Given the description of an element on the screen output the (x, y) to click on. 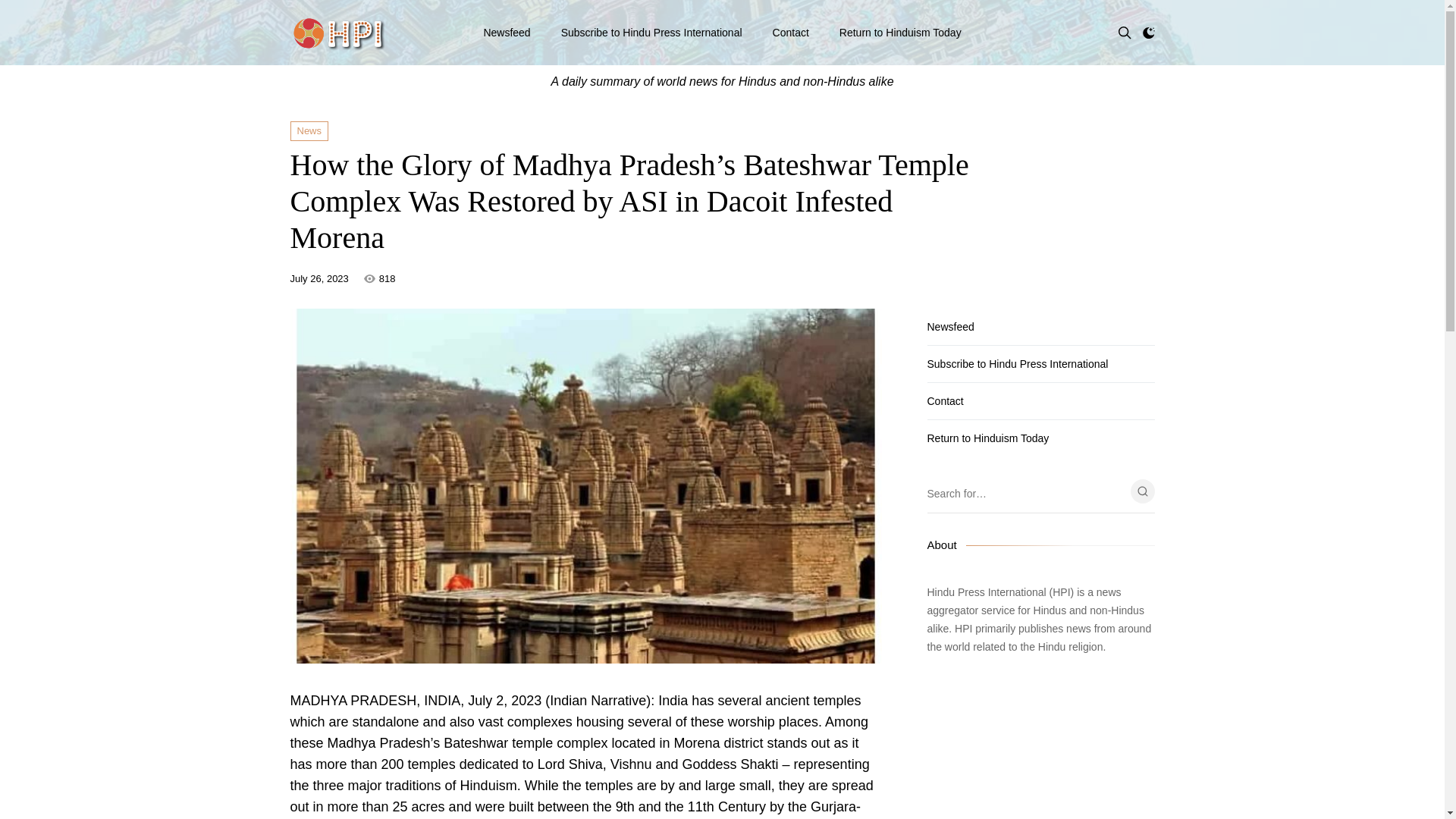
Contact (1040, 401)
Subscribe to Hindu Press International (1040, 363)
Newsfeed (506, 32)
Return to Hinduism Today (900, 32)
News (309, 130)
Search (1141, 491)
Contact (791, 32)
Subscribe to Hindu Press International (651, 32)
Newsfeed (1040, 326)
Search (1141, 491)
